Given the description of an element on the screen output the (x, y) to click on. 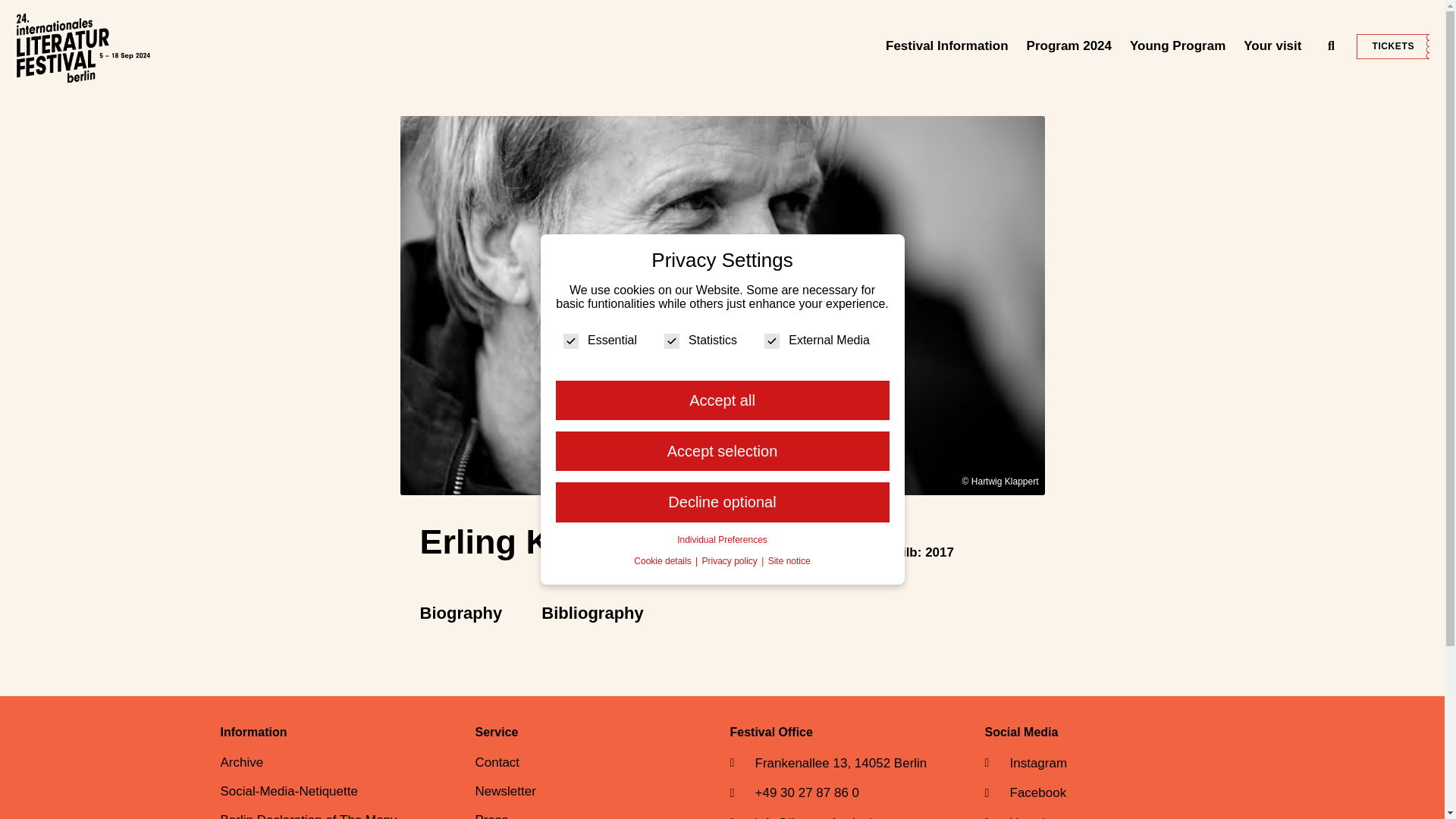
Donations (1345, 8)
Deutsch (1405, 8)
Program 2024 (1069, 45)
Your visit (1272, 45)
Newsletter (1250, 8)
Press (1299, 8)
Deutsch (1405, 8)
Festival Information (946, 45)
Contact (1198, 8)
Young Program (1177, 45)
